Given the description of an element on the screen output the (x, y) to click on. 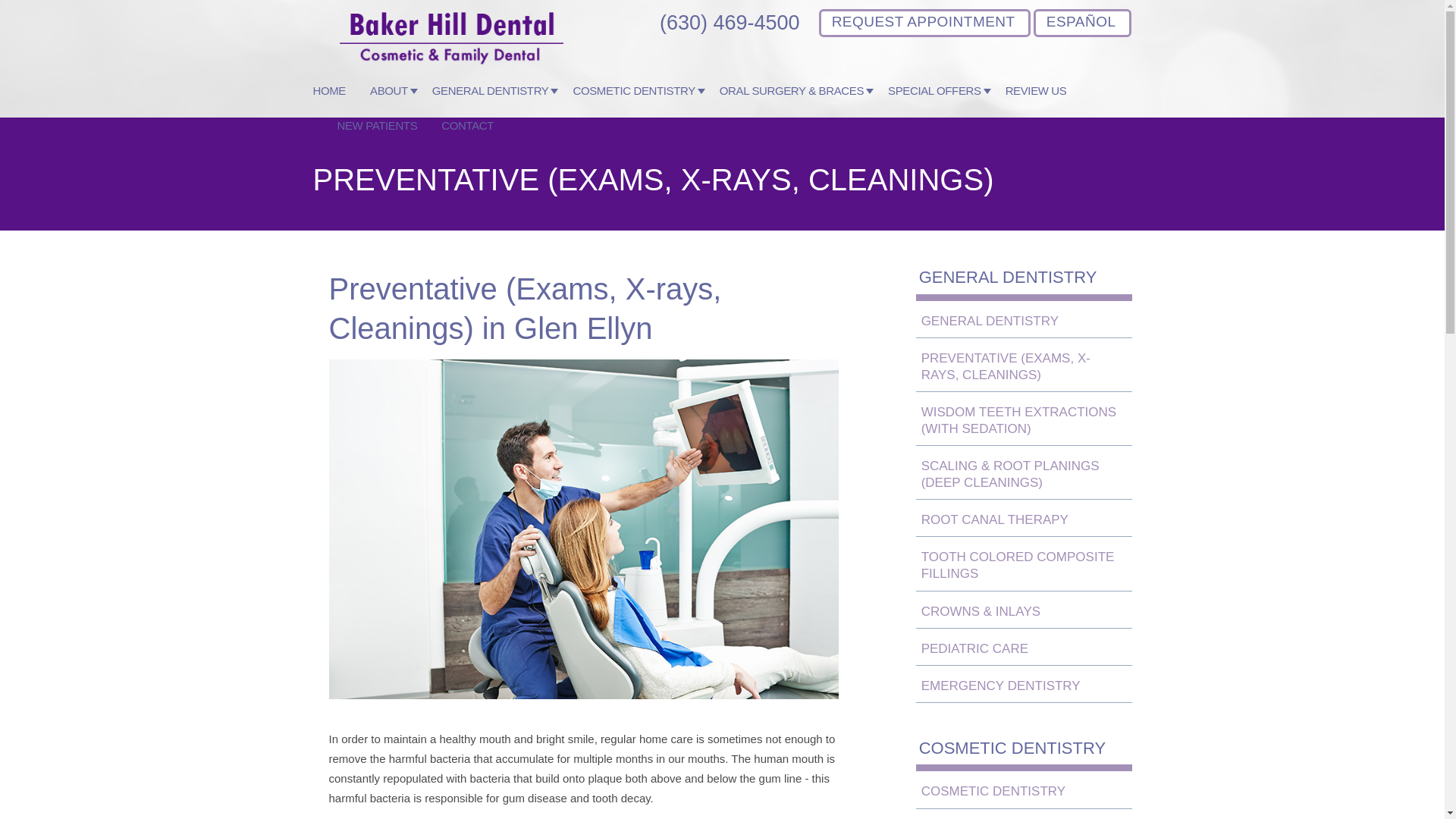
GENERAL DENTISTRY (495, 100)
HOME (329, 100)
ABOUT (393, 100)
COSMETIC DENTISTRY (638, 100)
REQUEST APPOINTMENT (924, 22)
SPECIAL OFFERS (939, 100)
